Given the description of an element on the screen output the (x, y) to click on. 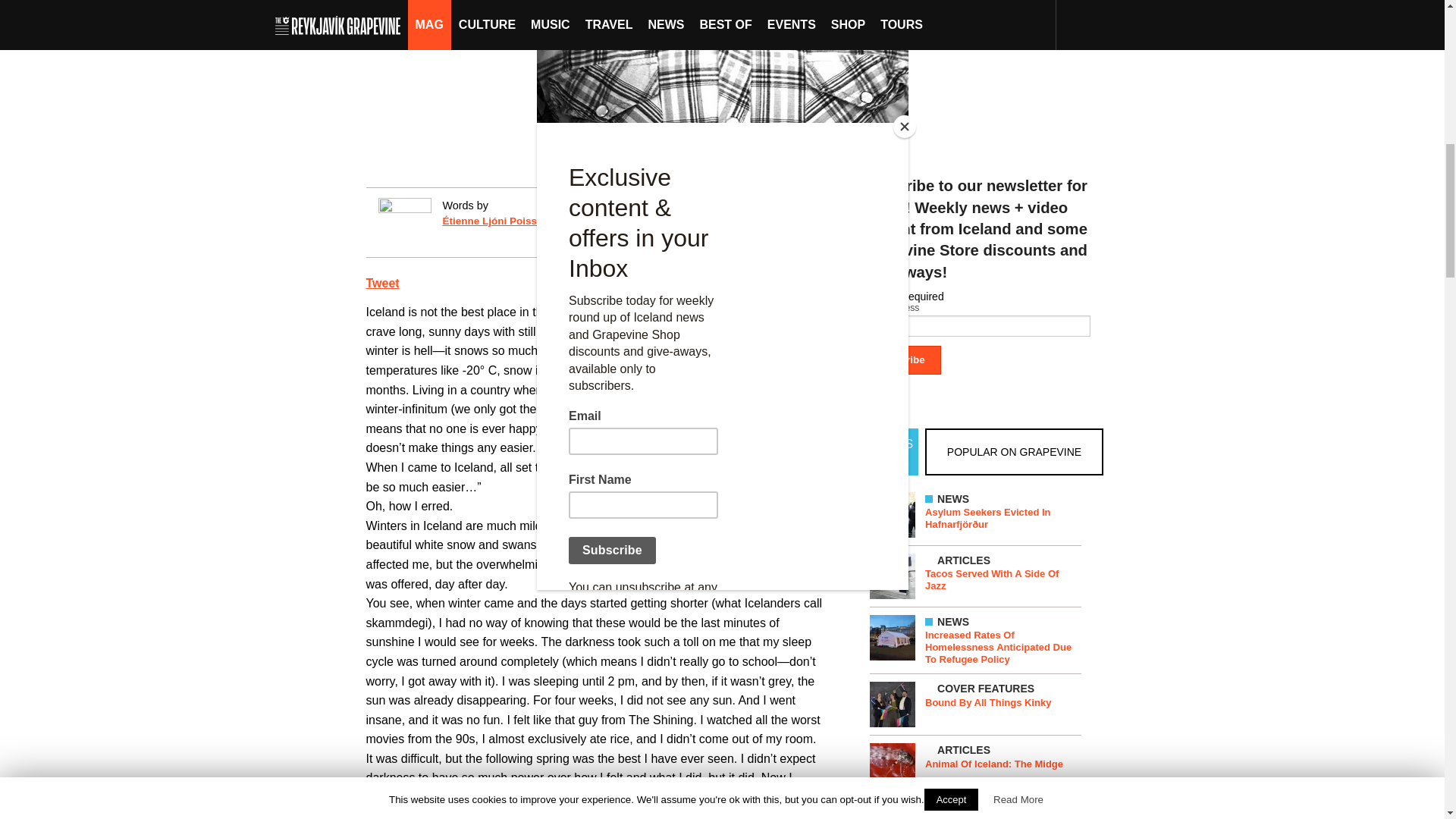
Tweet (381, 282)
Subscribe (900, 359)
